Given the description of an element on the screen output the (x, y) to click on. 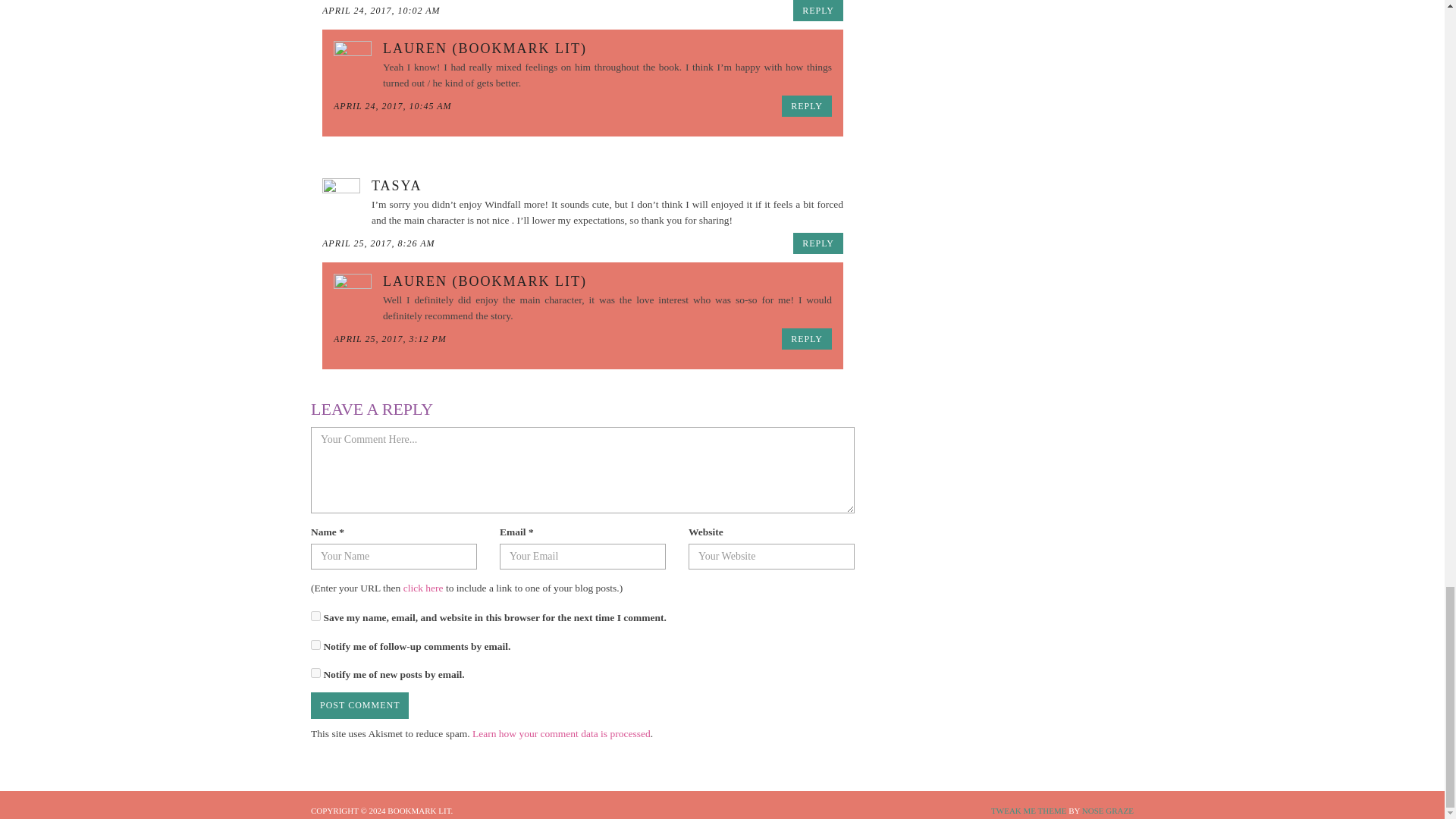
Post Comment (360, 705)
subscribe (315, 673)
yes (315, 615)
subscribe (315, 644)
